Given the description of an element on the screen output the (x, y) to click on. 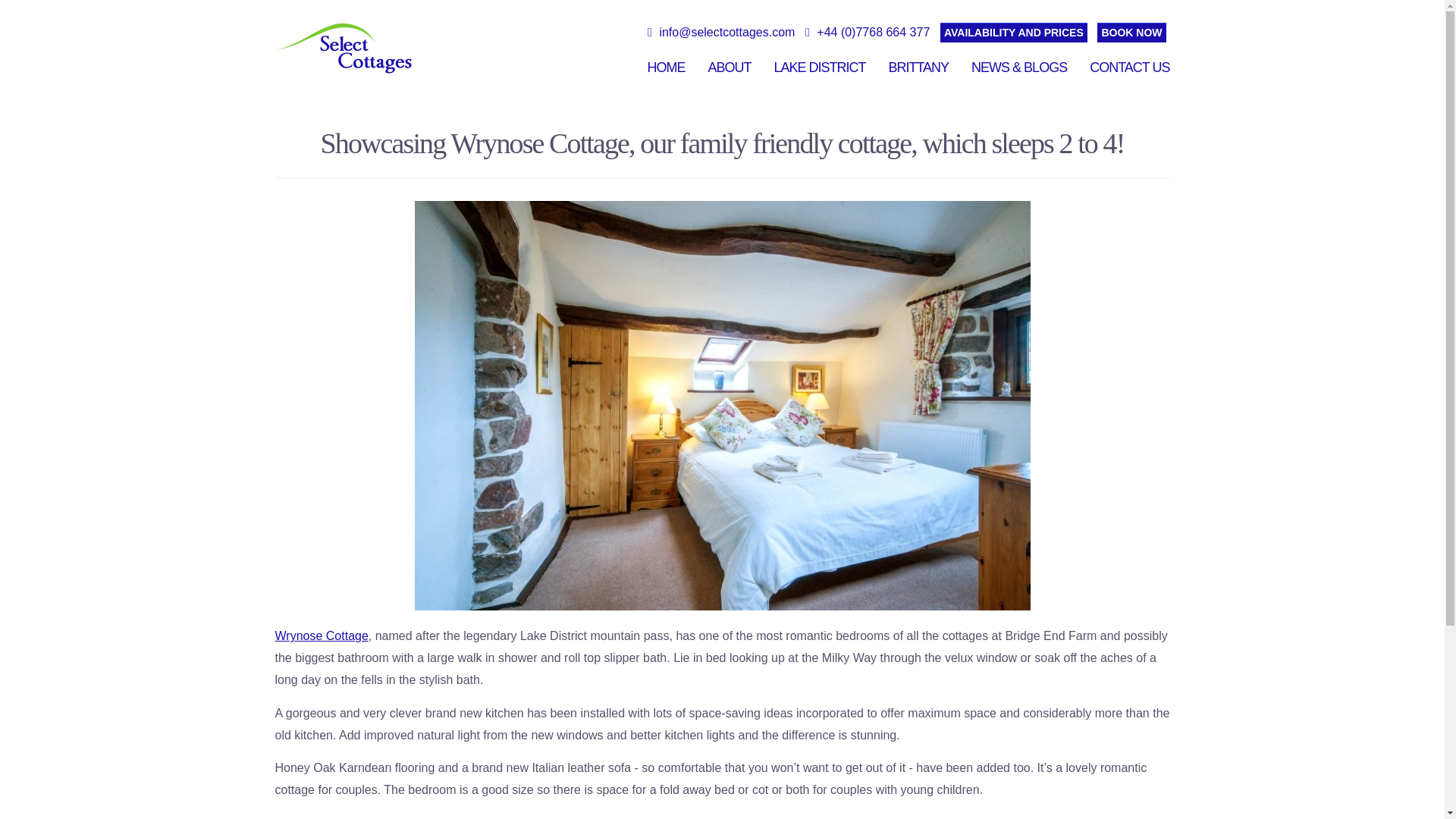
ABOUT (729, 67)
BOOK NOW (1131, 32)
AVAILABILITY AND PRICES (1013, 32)
BRITTANY (918, 67)
CONTACT US (1129, 67)
HOME (665, 67)
Holiday Cottages in the Lake District (818, 67)
LAKE DISTRICT (818, 67)
Wrynose Cottage (321, 635)
Brittany Holiday Cottages (918, 67)
Skip to main content (693, 1)
